Given the description of an element on the screen output the (x, y) to click on. 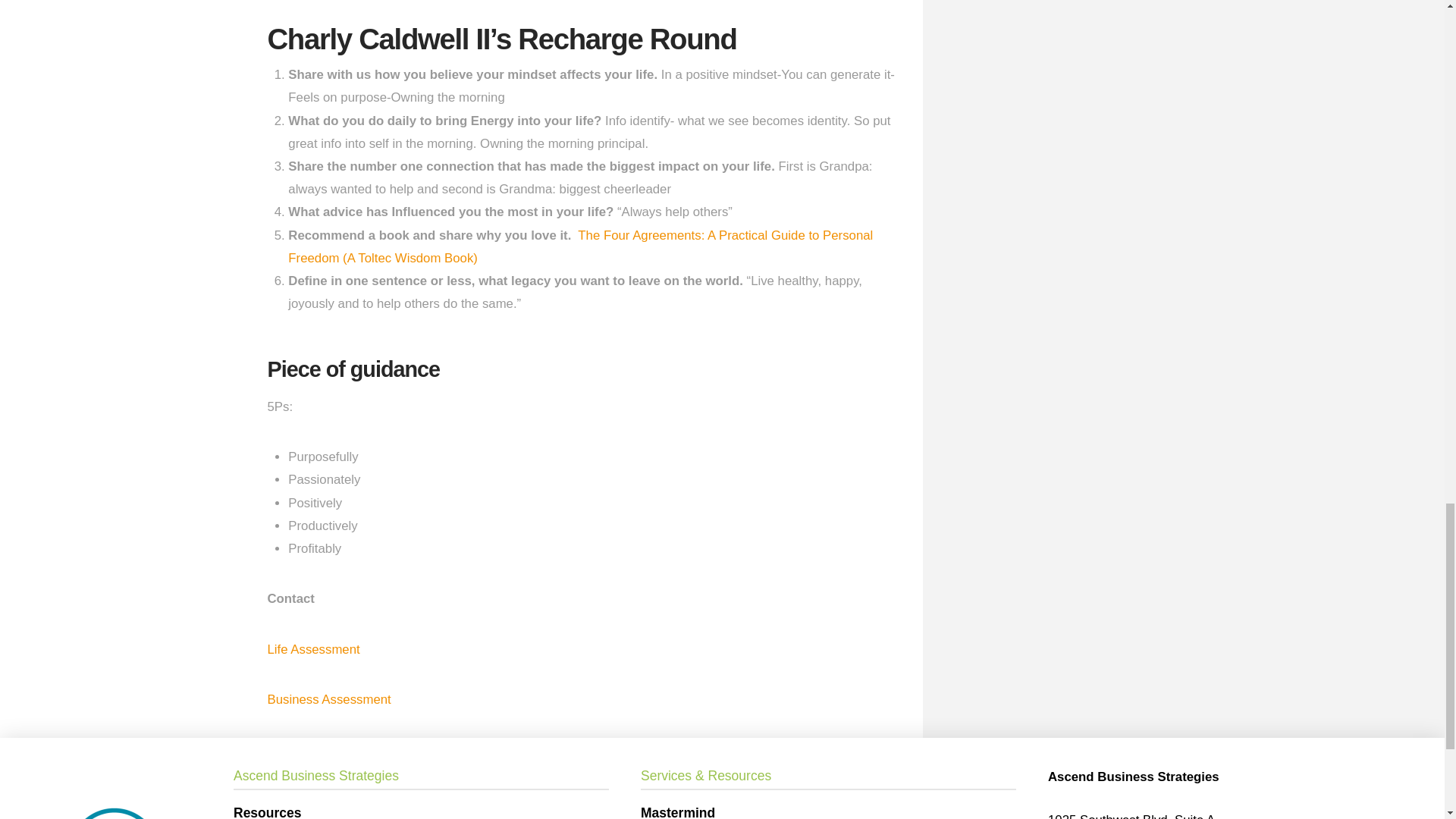
Business Assessment  (330, 699)
Resources (420, 811)
Mastermind (828, 811)
Life Assessment (312, 649)
